Given the description of an element on the screen output the (x, y) to click on. 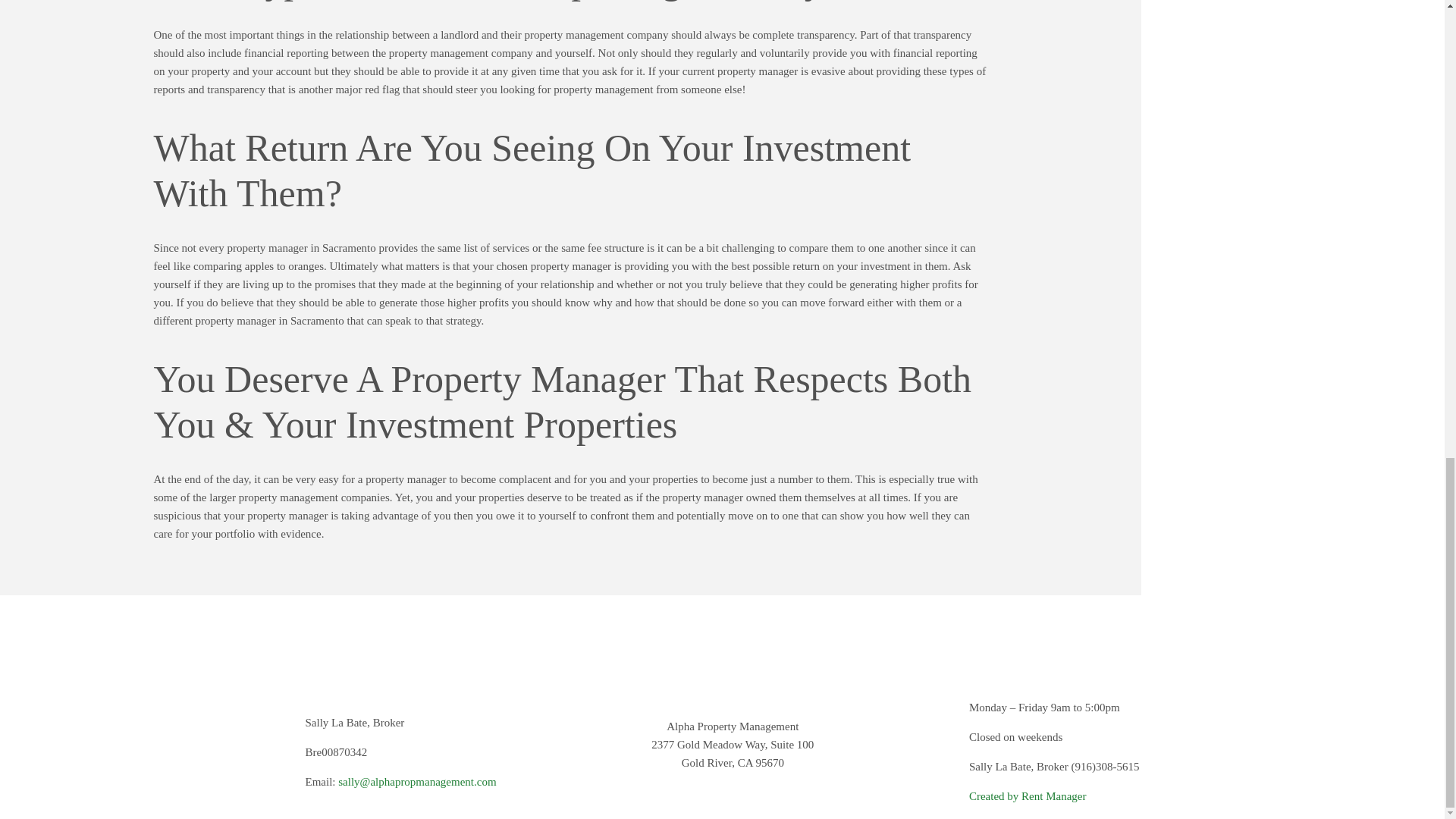
Created by Rent Manager (1027, 796)
Website created by Rent Manager (1027, 796)
